Given the description of an element on the screen output the (x, y) to click on. 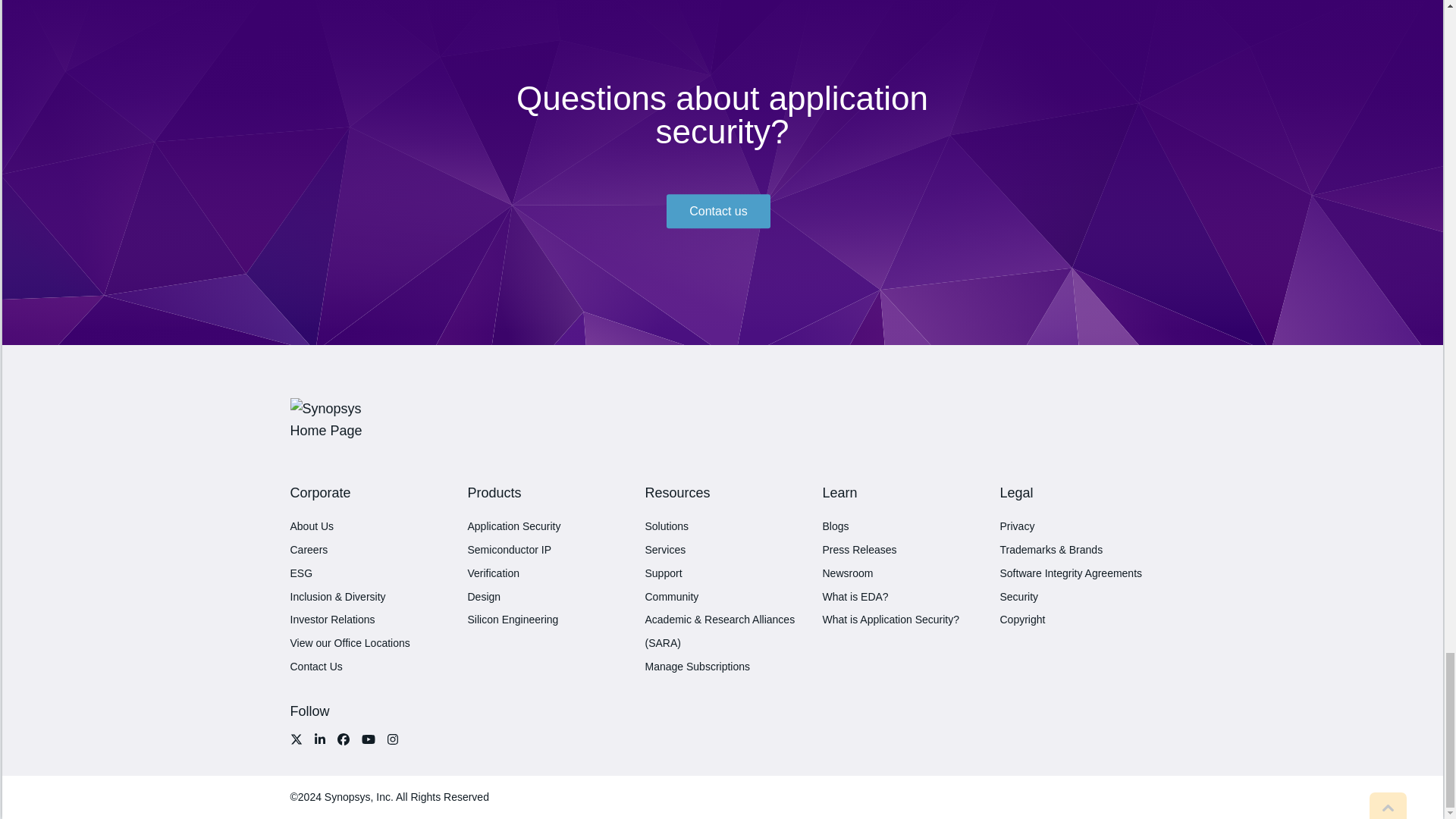
Youtube (367, 739)
Twitter (298, 739)
Linkedin (318, 739)
Instagram (388, 739)
Facebook (342, 739)
